Given the description of an element on the screen output the (x, y) to click on. 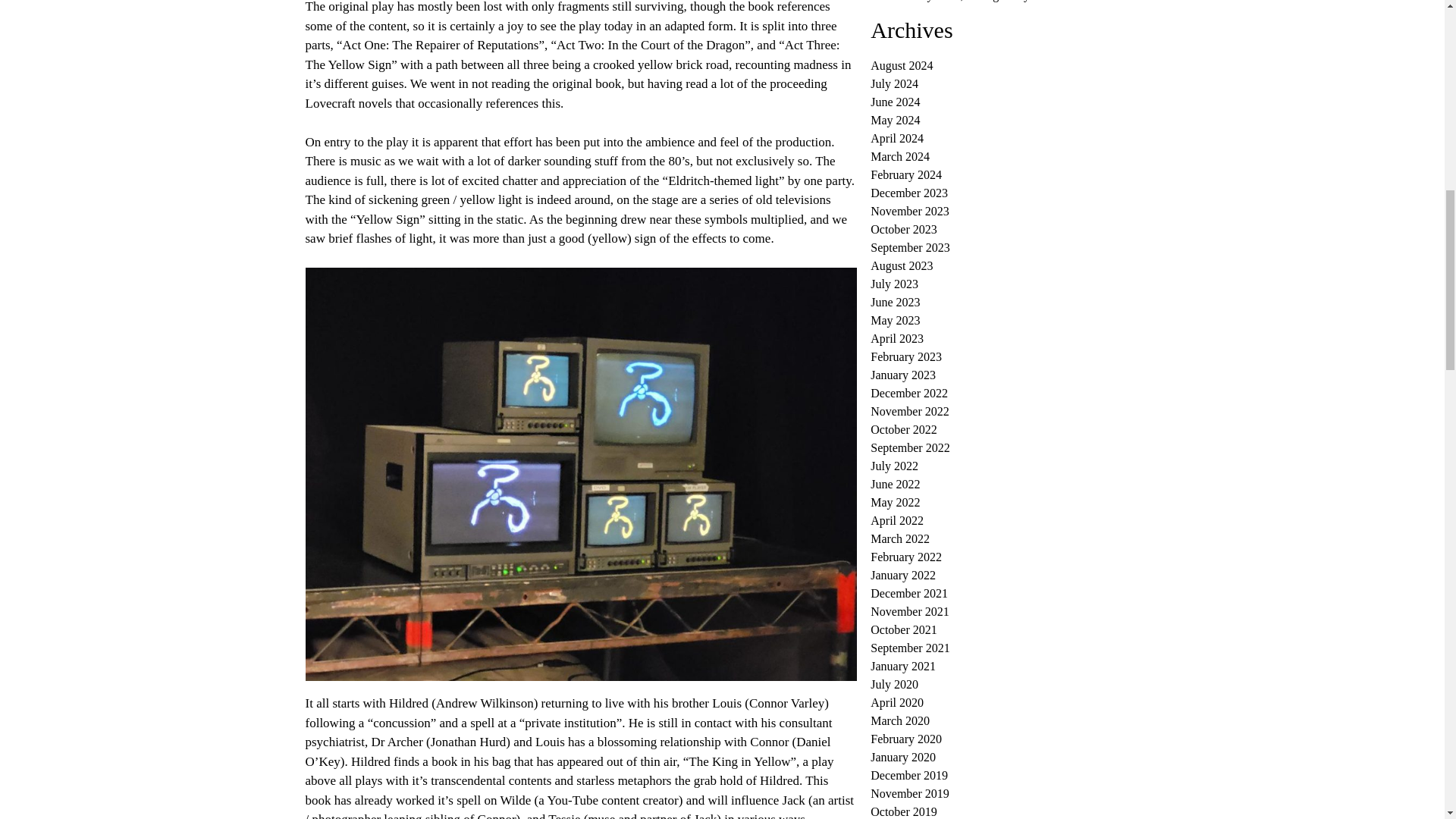
July 2024 (894, 83)
August 2024 (901, 65)
